Given the description of an element on the screen output the (x, y) to click on. 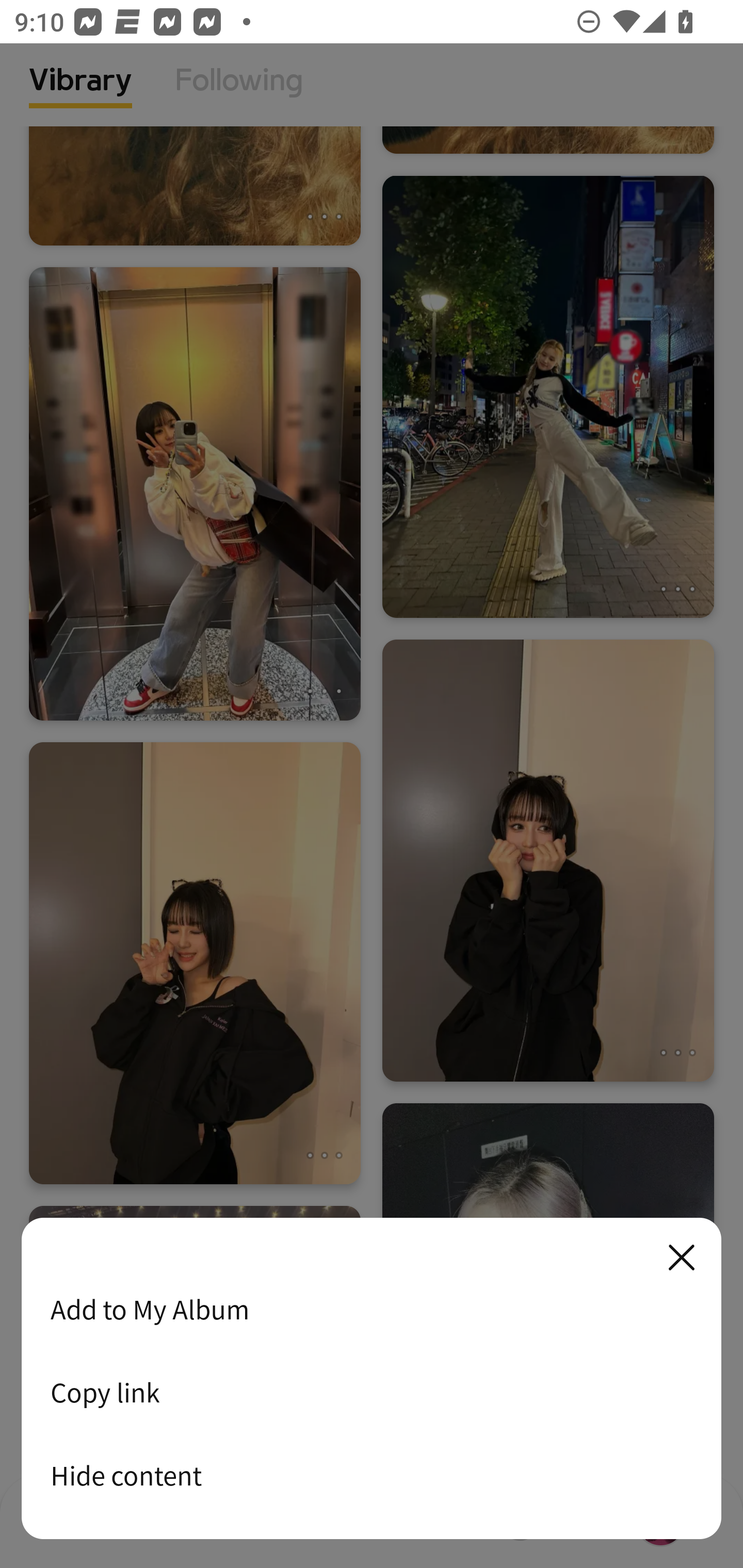
Add to My Album Copy link Hide content (371, 1378)
Add to My Album (371, 1308)
Copy link (371, 1391)
Hide content (371, 1474)
